Given the description of an element on the screen output the (x, y) to click on. 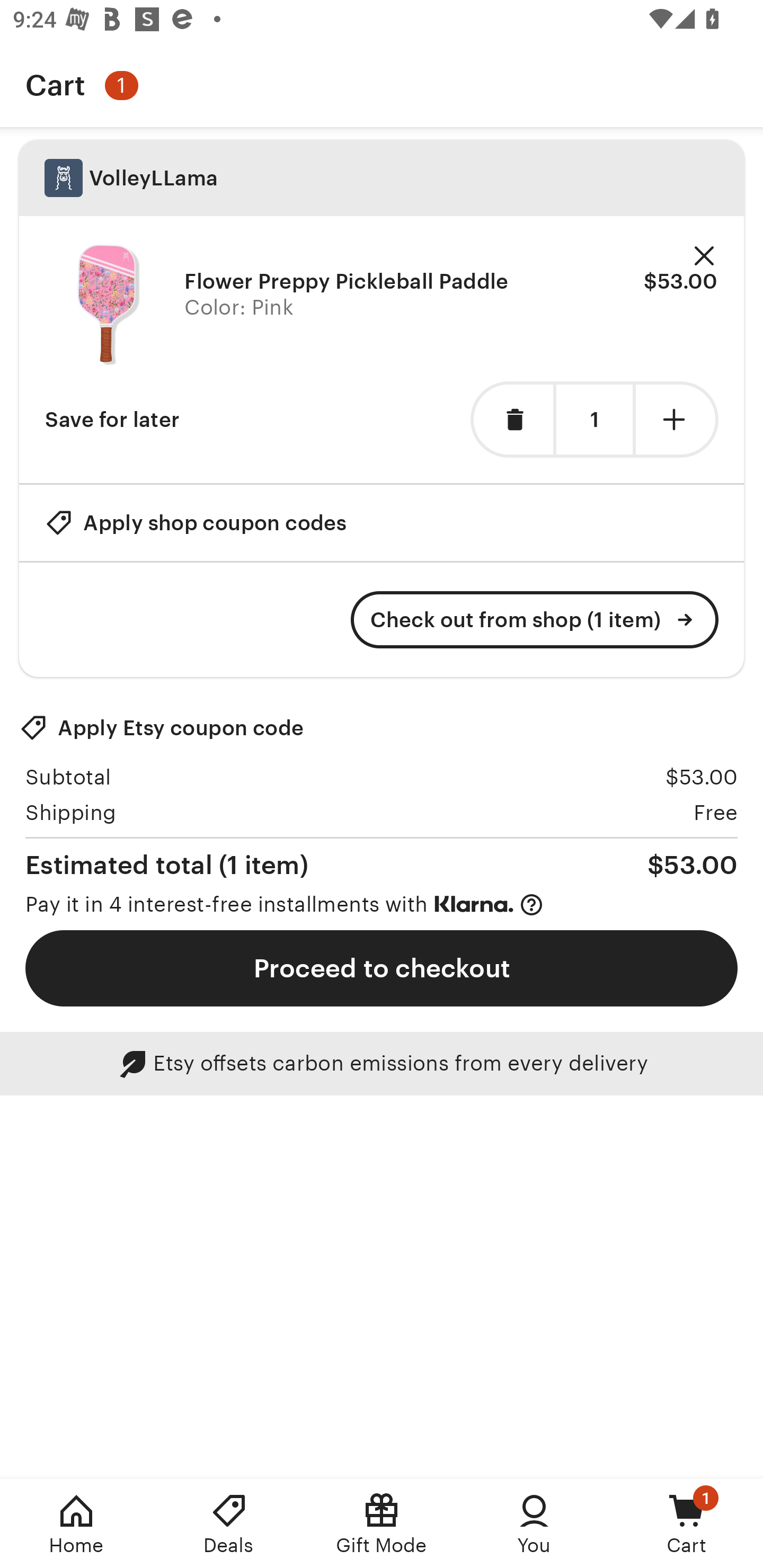
VolleyLLama (381, 177)
Remove (704, 255)
Flower Preppy Pickleball Paddle (107, 304)
Flower Preppy Pickleball Paddle (346, 281)
Save for later (112, 419)
Remove item from cart (511, 419)
Add one unit to cart (676, 419)
1 (594, 419)
Apply shop coupon codes (195, 522)
Check out from shop (1 item) (534, 619)
Apply Etsy coupon code (161, 727)
Proceed to checkout (381, 967)
Home (76, 1523)
Deals (228, 1523)
Gift Mode (381, 1523)
You (533, 1523)
